Given the description of an element on the screen output the (x, y) to click on. 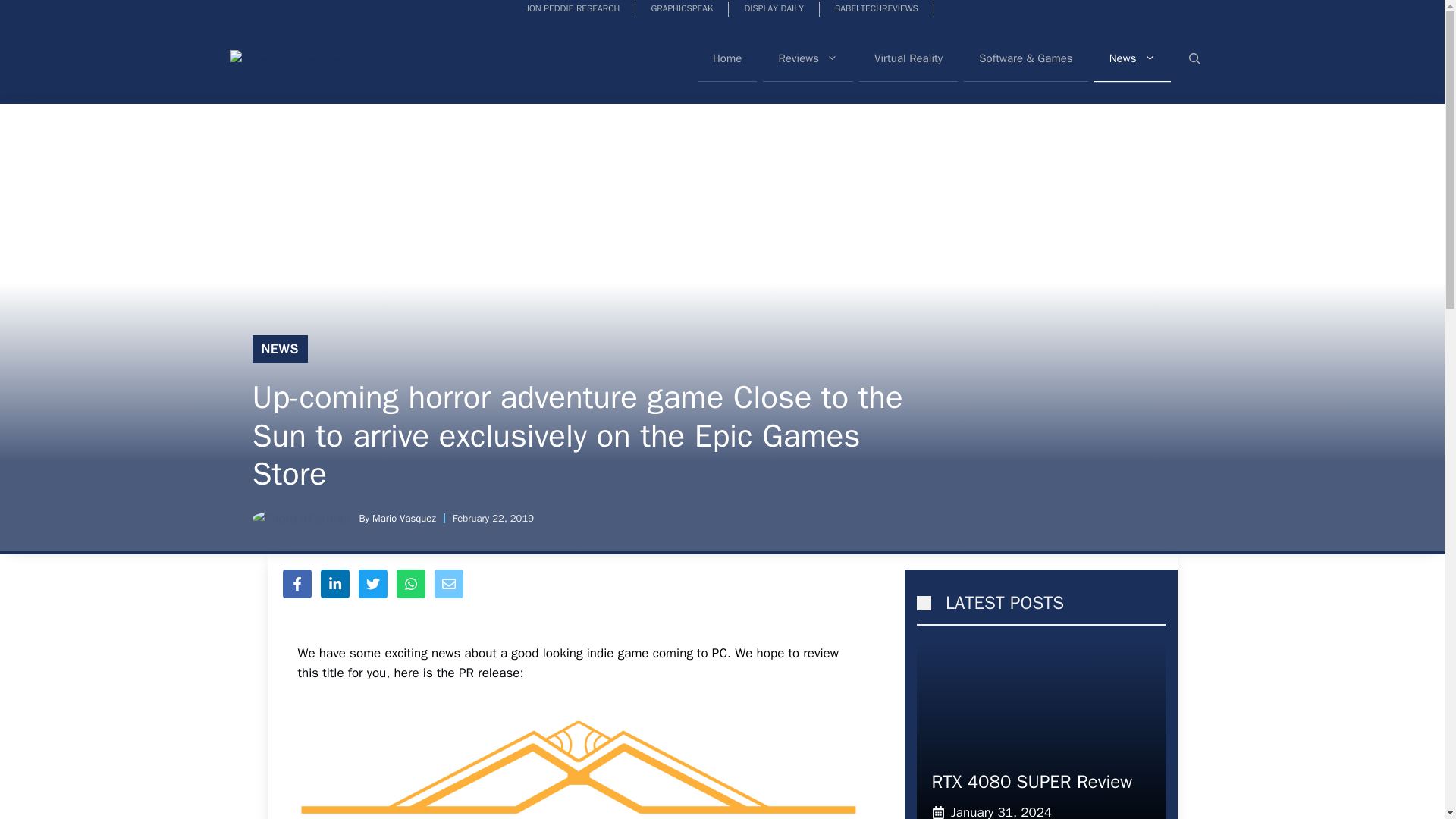
DISPLAY DAILY (773, 8)
GRAPHICSPEAK (681, 8)
News (1132, 58)
JON PEDDIE RESEARCH (572, 8)
Home (727, 58)
Mario Vasquez (403, 517)
NEWS (279, 349)
SORRY, YOUR BROWSER DOES NOT SUPPORT INLINE SVG. (922, 603)
Virtual Reality (908, 58)
BABELTECHREVIEWS (876, 8)
Reviews (807, 58)
